Given the description of an element on the screen output the (x, y) to click on. 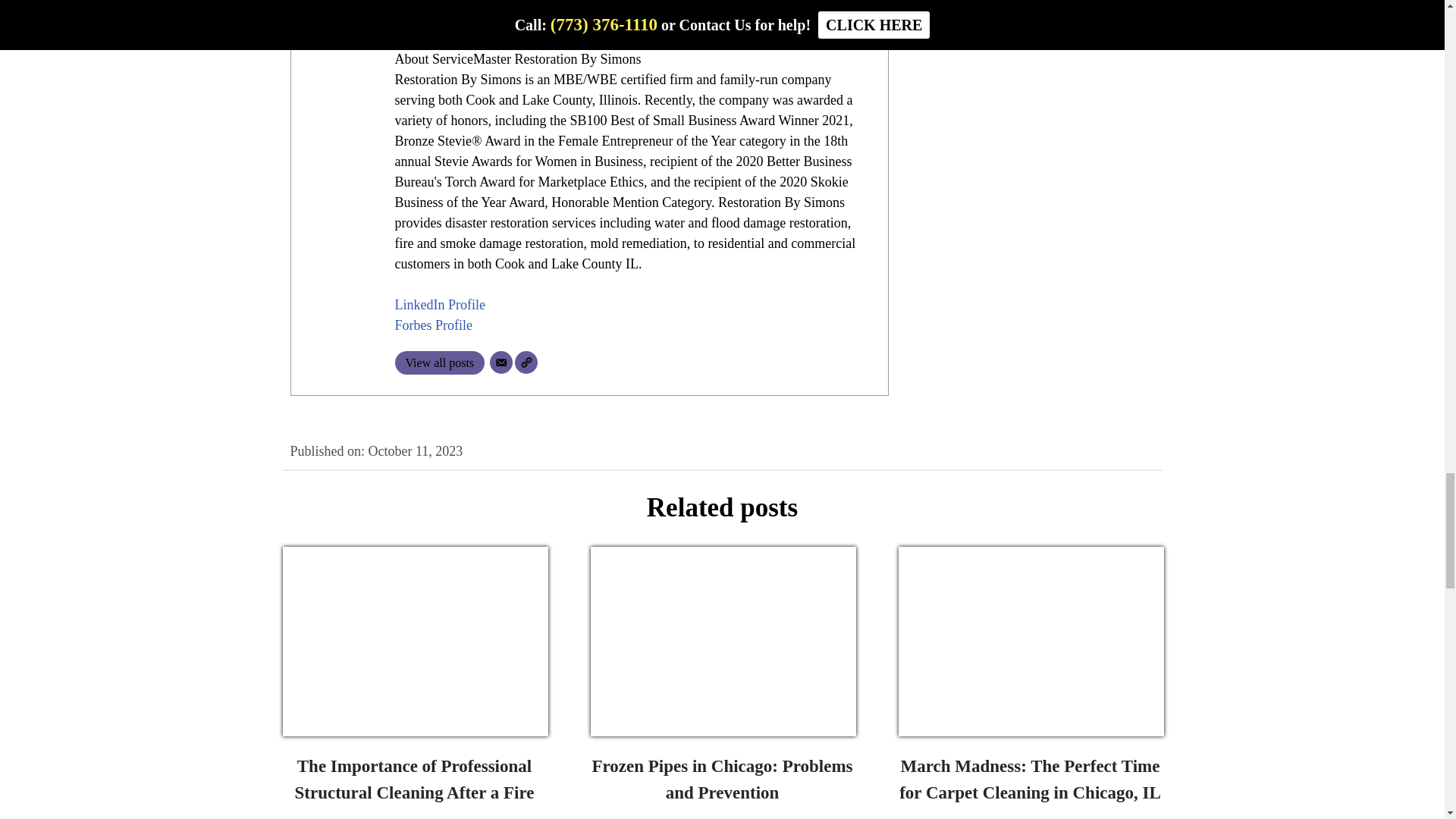
View all posts (439, 362)
